Given the description of an element on the screen output the (x, y) to click on. 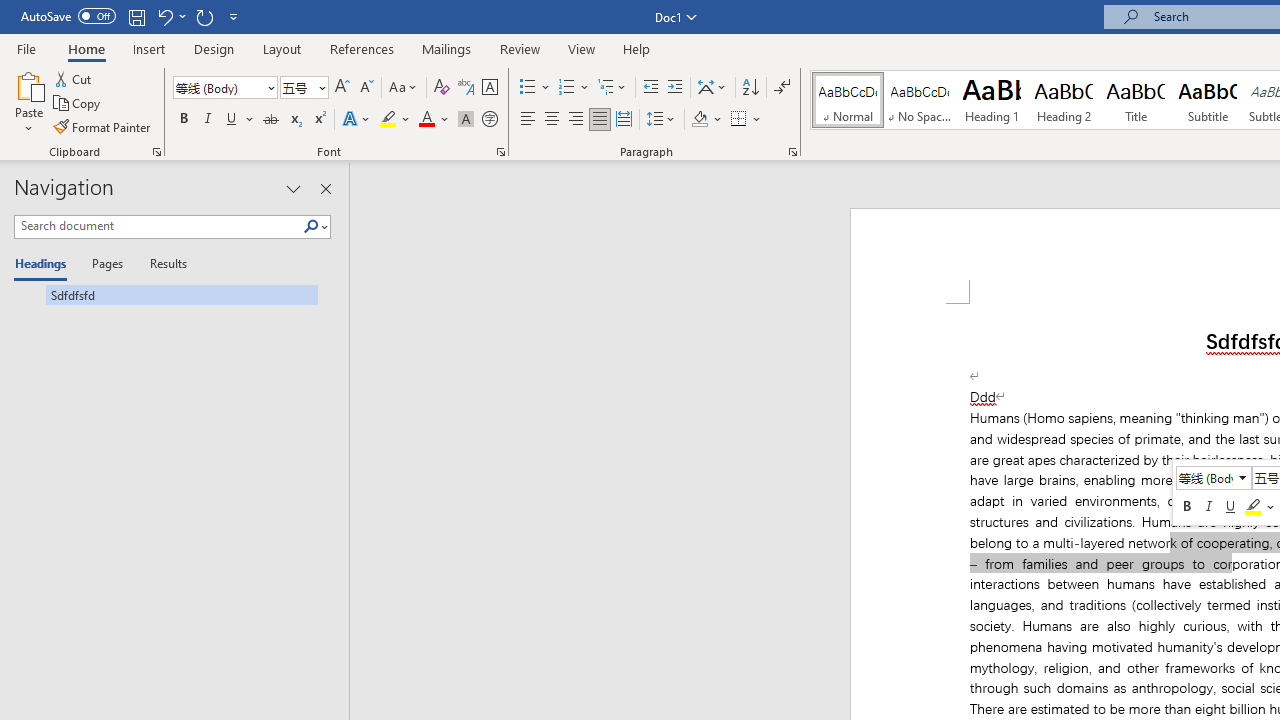
Heading 2 (1063, 100)
